Given the description of an element on the screen output the (x, y) to click on. 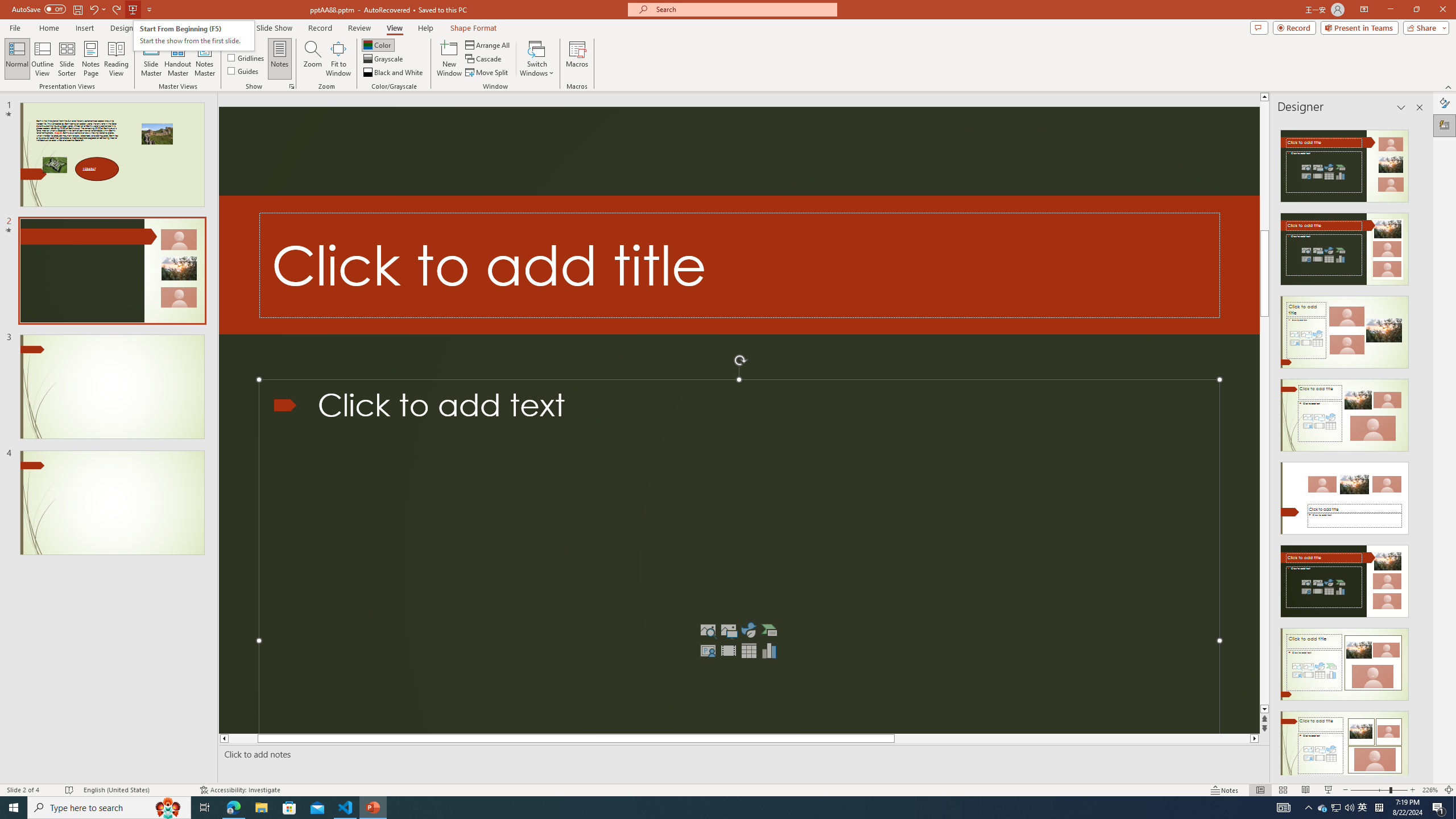
Notes Page (90, 58)
Slide Master (151, 58)
Notes Master (204, 58)
Zoom 226% (1430, 790)
